Given the description of an element on the screen output the (x, y) to click on. 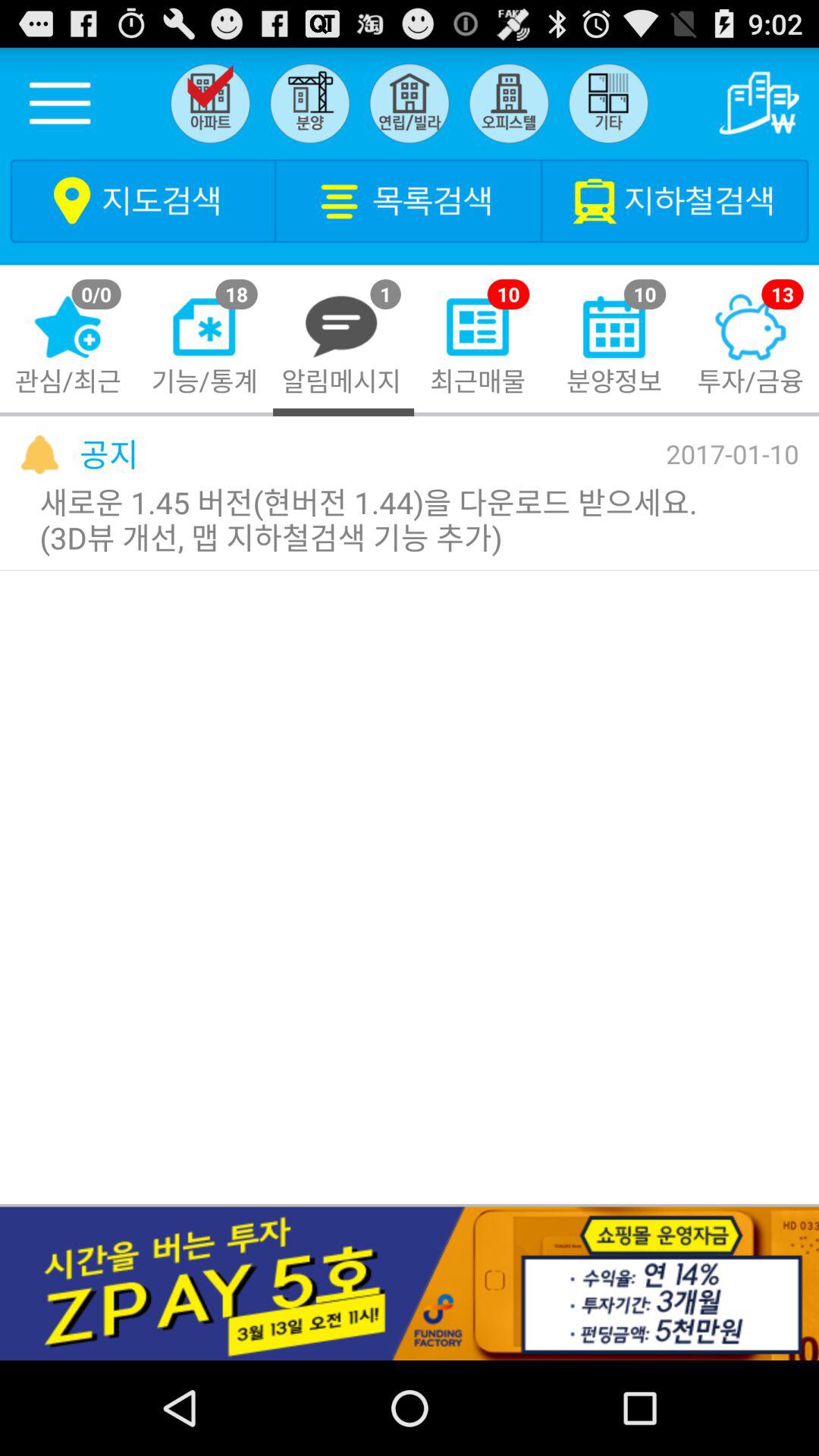
tap 2017-01-10 (732, 453)
